Given the description of an element on the screen output the (x, y) to click on. 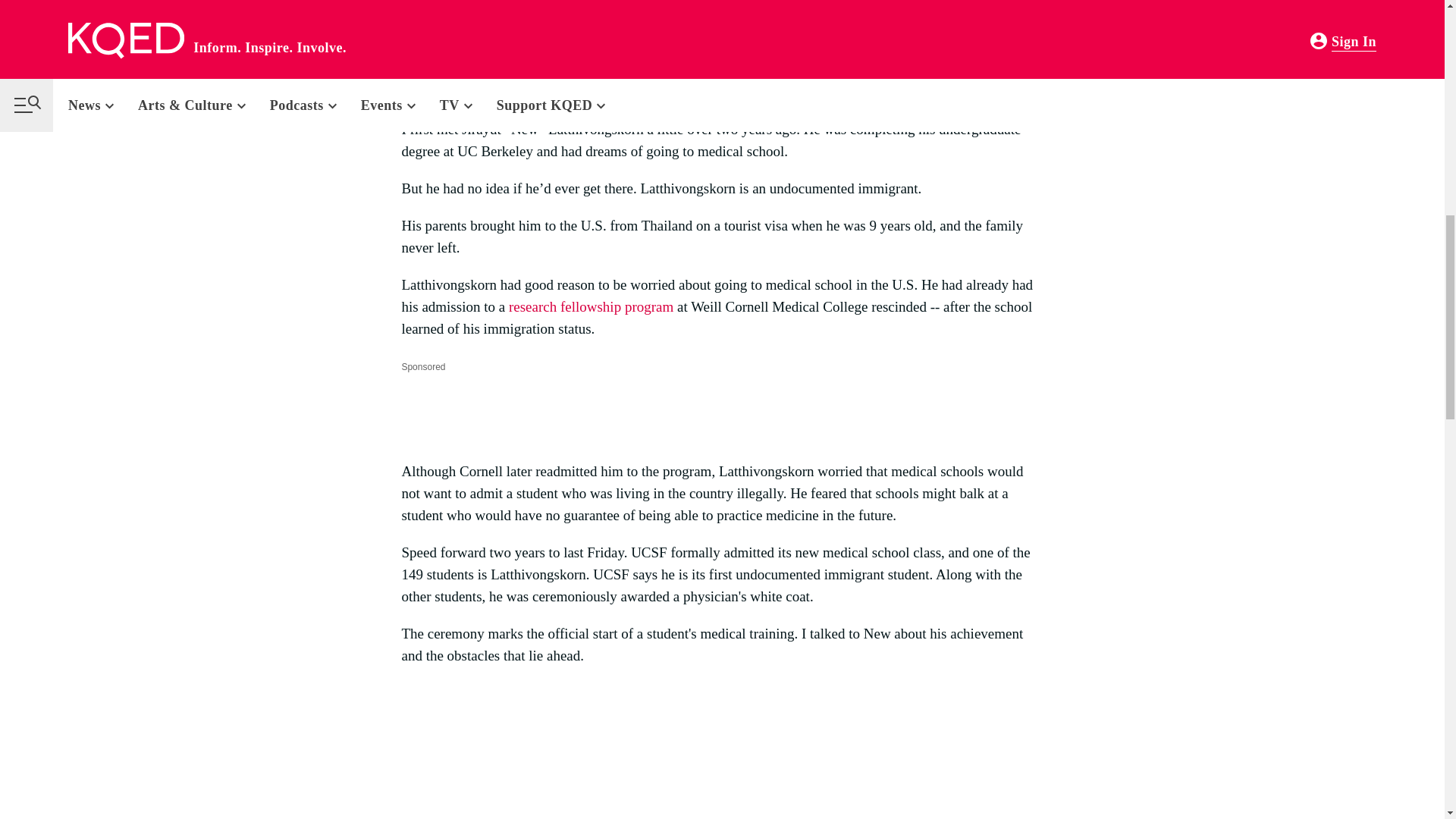
Travelers Summer Research Fellowship Program (590, 306)
3rd party ad content (677, 410)
